Given the description of an element on the screen output the (x, y) to click on. 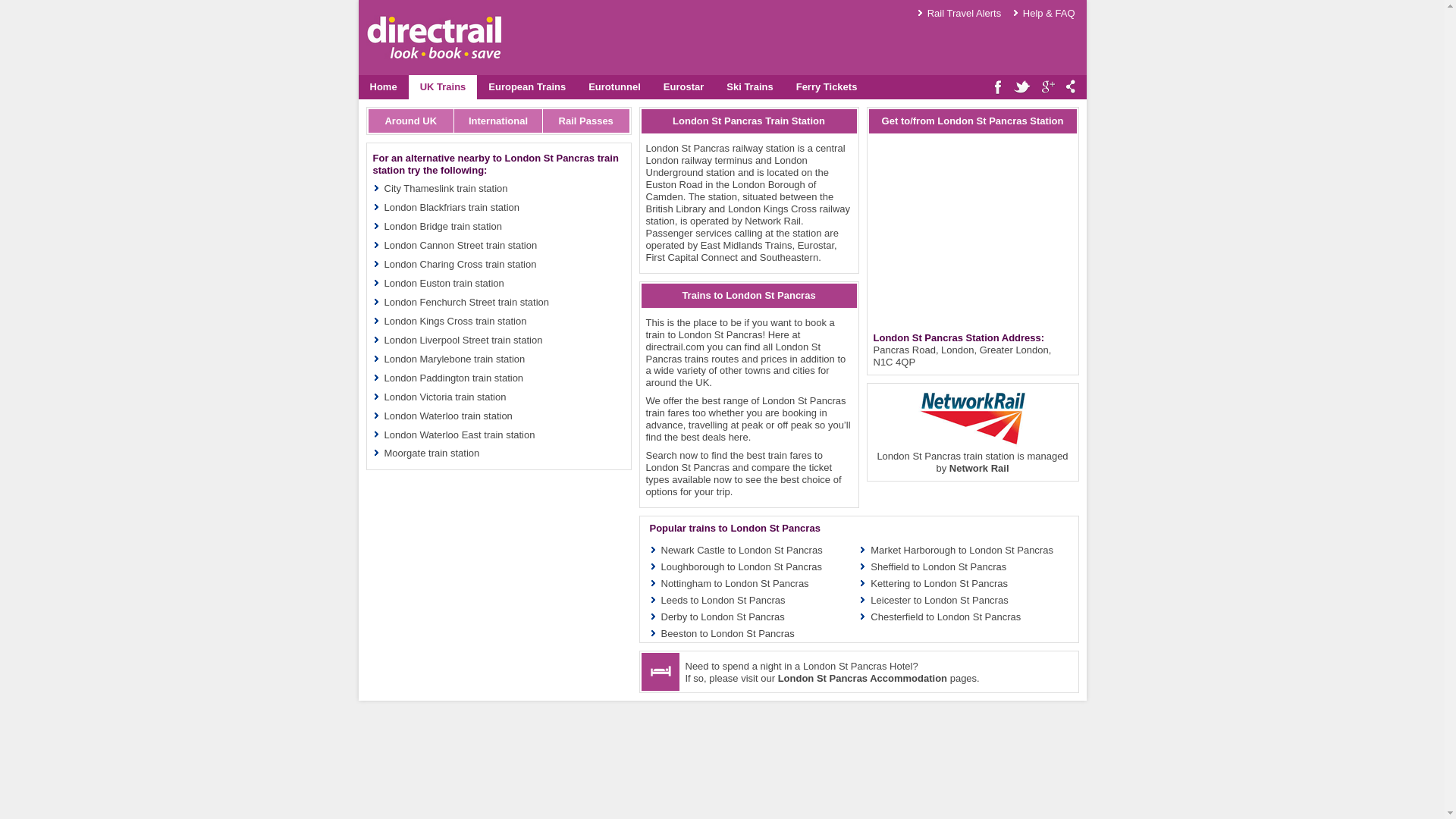
International (498, 120)
European Trains (526, 87)
London Victoria train station (444, 396)
Sheffield to London St Pancras (938, 566)
Eurotunnel (614, 87)
Ski Trains (749, 87)
London Fenchurch Street train station (466, 301)
Moorgate train station (431, 452)
London Liverpool Street train station (462, 339)
Leicester to London St Pancras (938, 600)
